Given the description of an element on the screen output the (x, y) to click on. 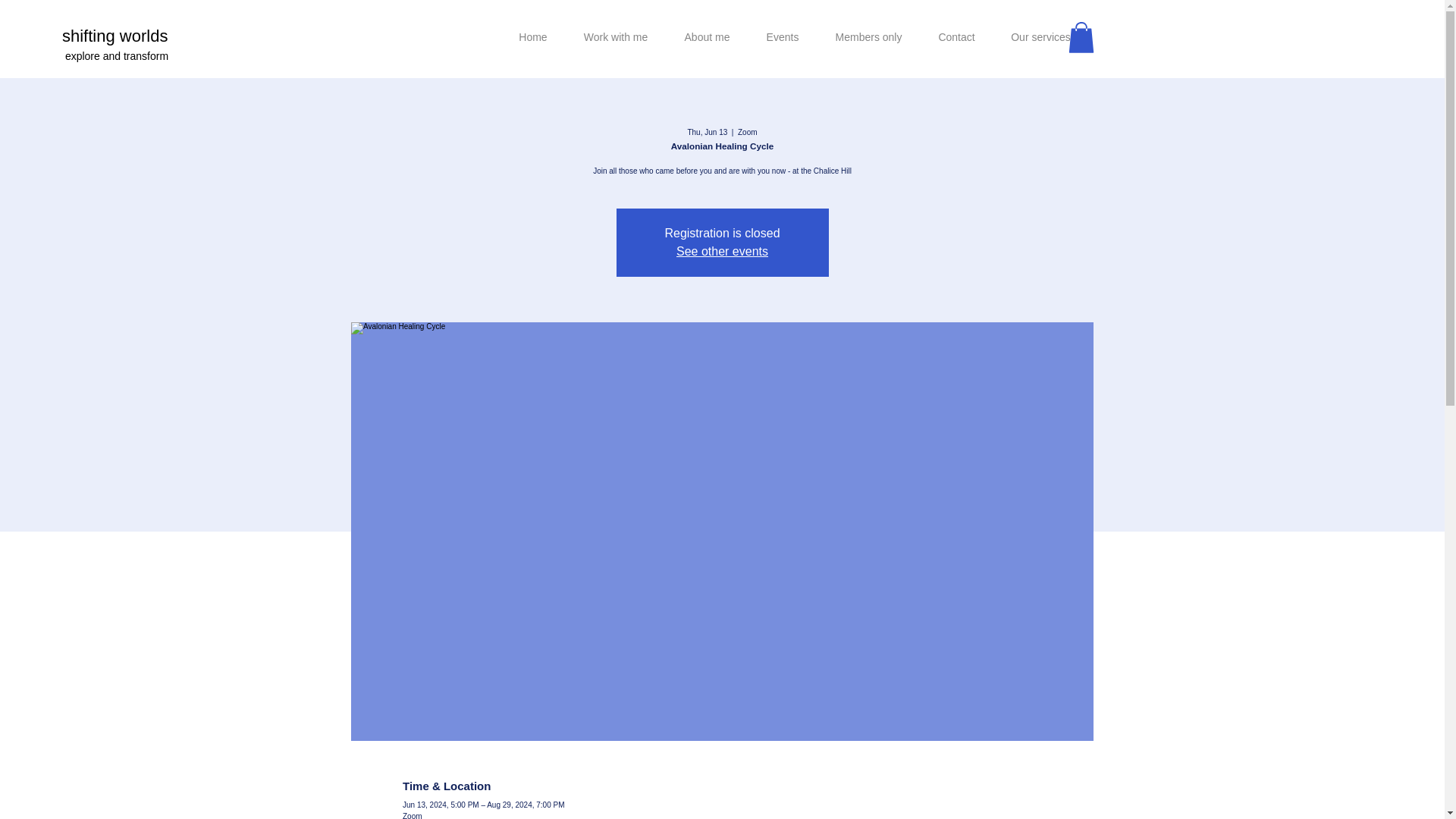
Events (782, 37)
Members only (868, 37)
Work with me (616, 37)
Contact (956, 37)
See other events (722, 250)
Home (532, 37)
About me (706, 37)
Our services (1040, 37)
